Given the description of an element on the screen output the (x, y) to click on. 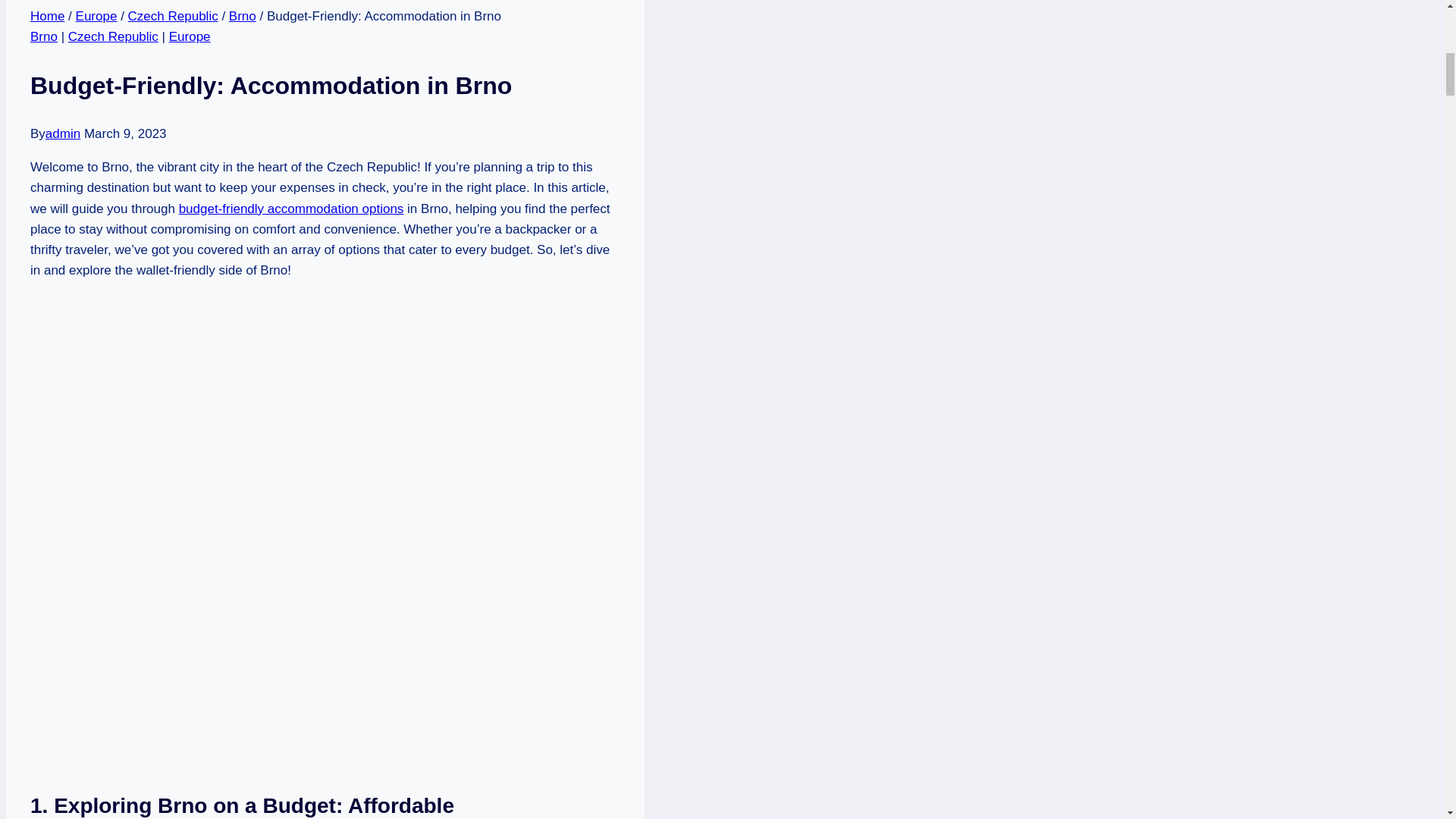
Brno (242, 16)
Brno (44, 36)
admin (62, 133)
Europe (96, 16)
Europe (189, 36)
Home (47, 16)
Czech Republic (113, 36)
Czech Republic (173, 16)
Budget Getaways: Hotels in Brno Czech Republic (291, 208)
